Given the description of an element on the screen output the (x, y) to click on. 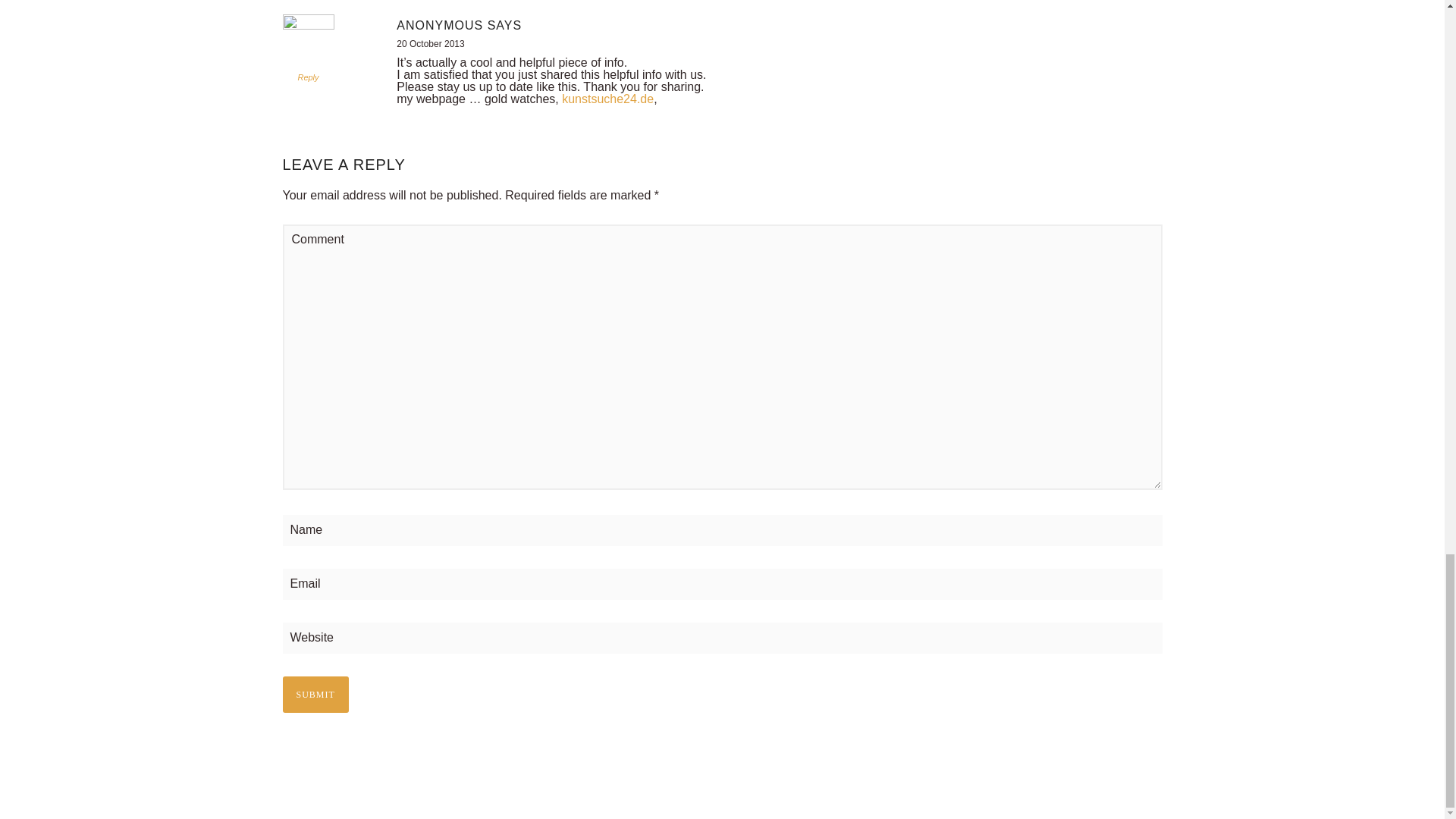
Submit (314, 694)
Submit (314, 694)
kunstsuche24.de (607, 98)
Reply (307, 76)
